Given the description of an element on the screen output the (x, y) to click on. 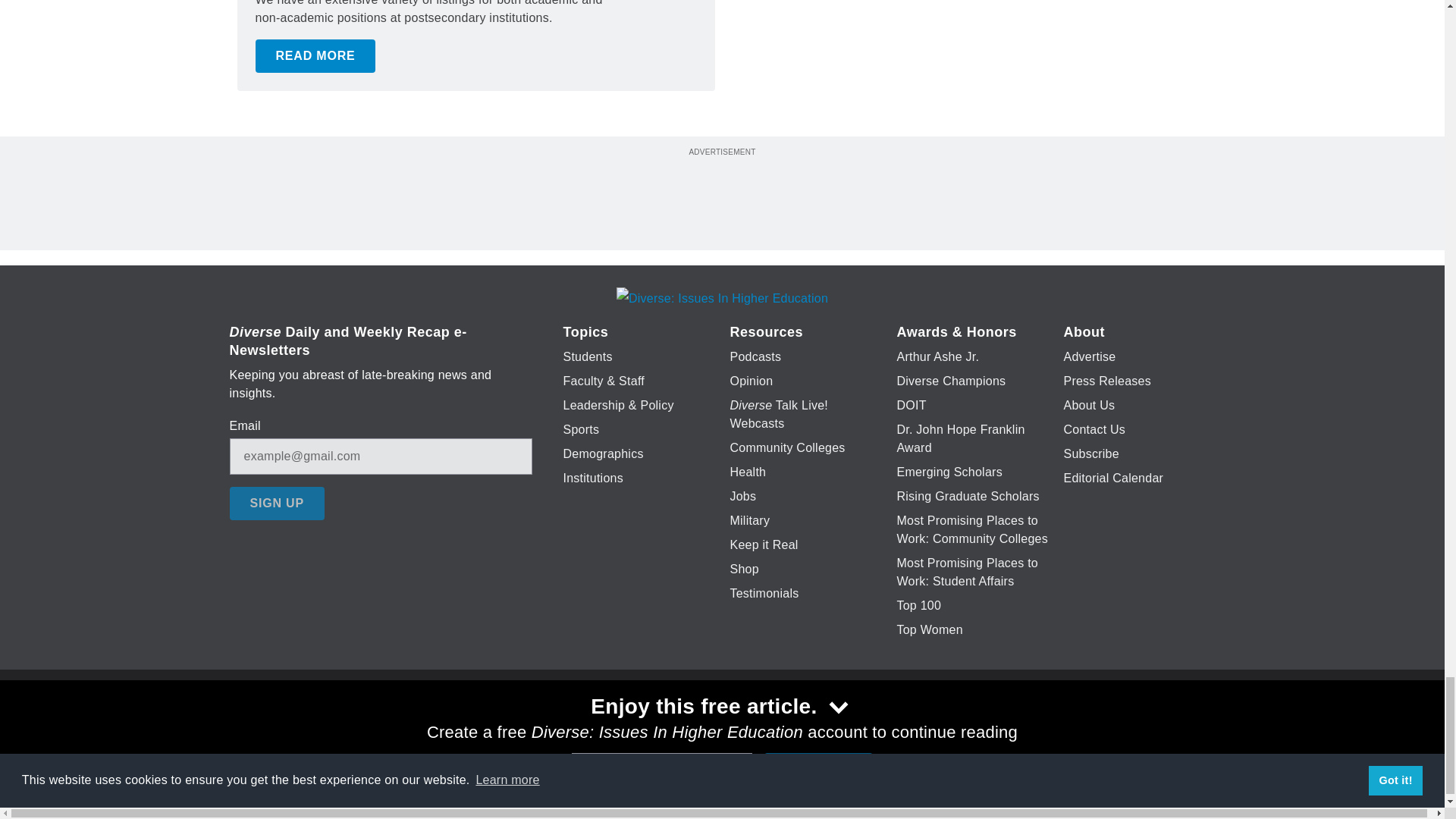
Instagram icon (796, 727)
LinkedIn icon (718, 727)
YouTube icon (757, 727)
Facebook icon (635, 727)
Twitter X icon (674, 727)
